Given the description of an element on the screen output the (x, y) to click on. 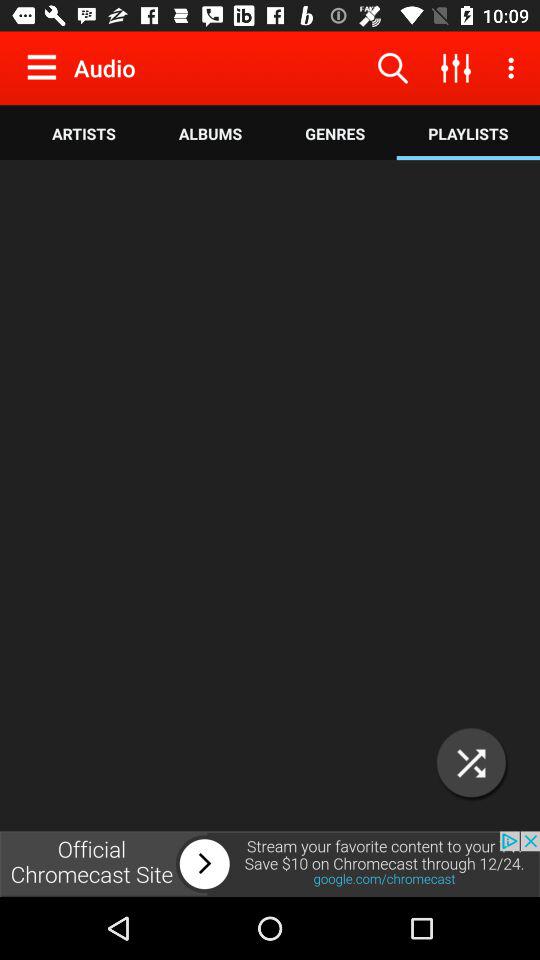
description (270, 496)
